Given the description of an element on the screen output the (x, y) to click on. 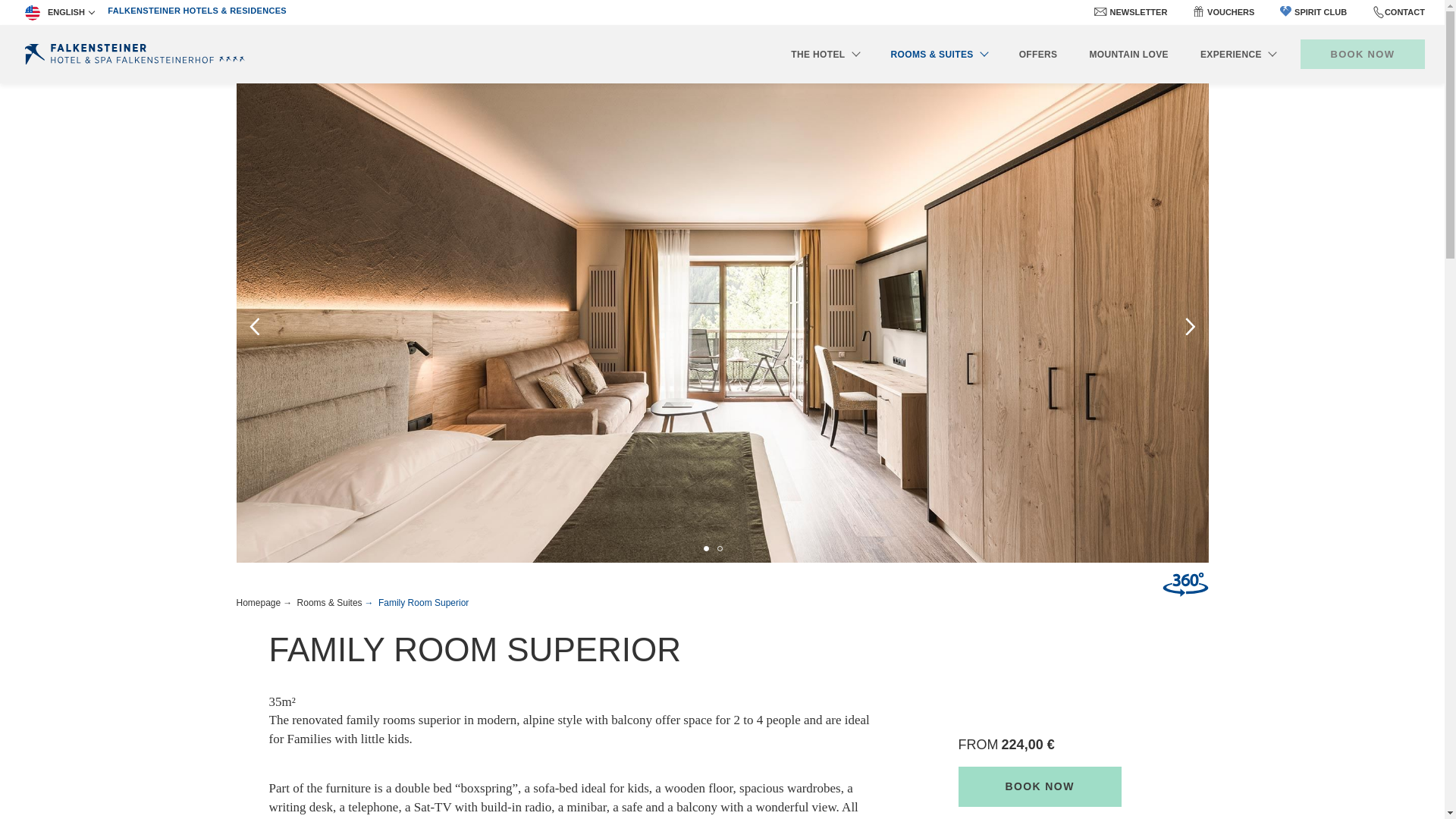
club (1285, 10)
Vouchers (1198, 11)
THE HOTEL (824, 53)
ENGLISH (59, 11)
SPIRIT CLUB (1312, 12)
NEWSLETTER (1138, 12)
VOUCHERS (1230, 12)
CONTACT (1404, 11)
